Given the description of an element on the screen output the (x, y) to click on. 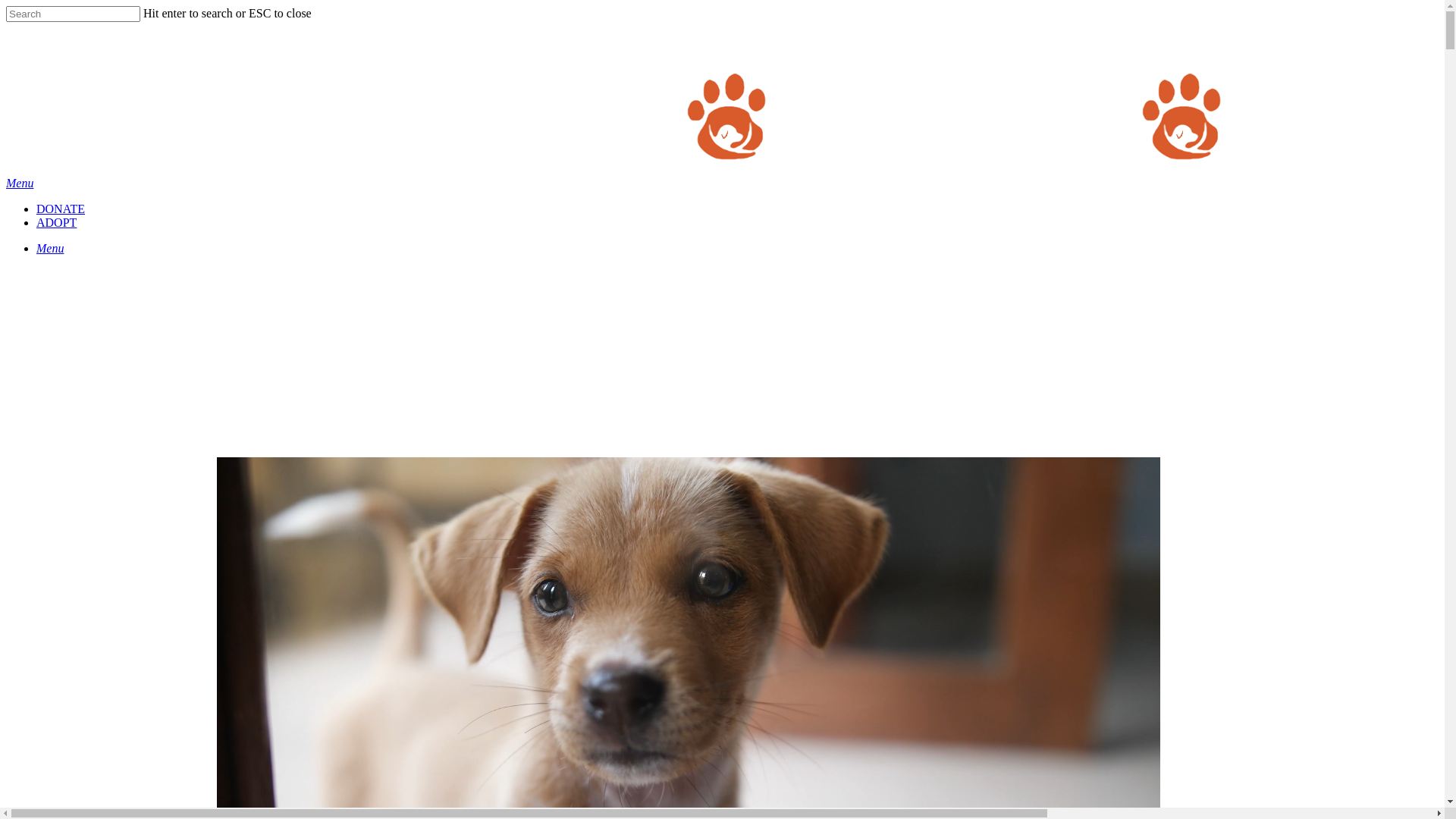
Skip to main content Element type: text (5, 5)
Menu Element type: text (49, 247)
DONATE Element type: text (60, 208)
Menu Element type: text (19, 182)
ADOPT Element type: text (56, 222)
